Given the description of an element on the screen output the (x, y) to click on. 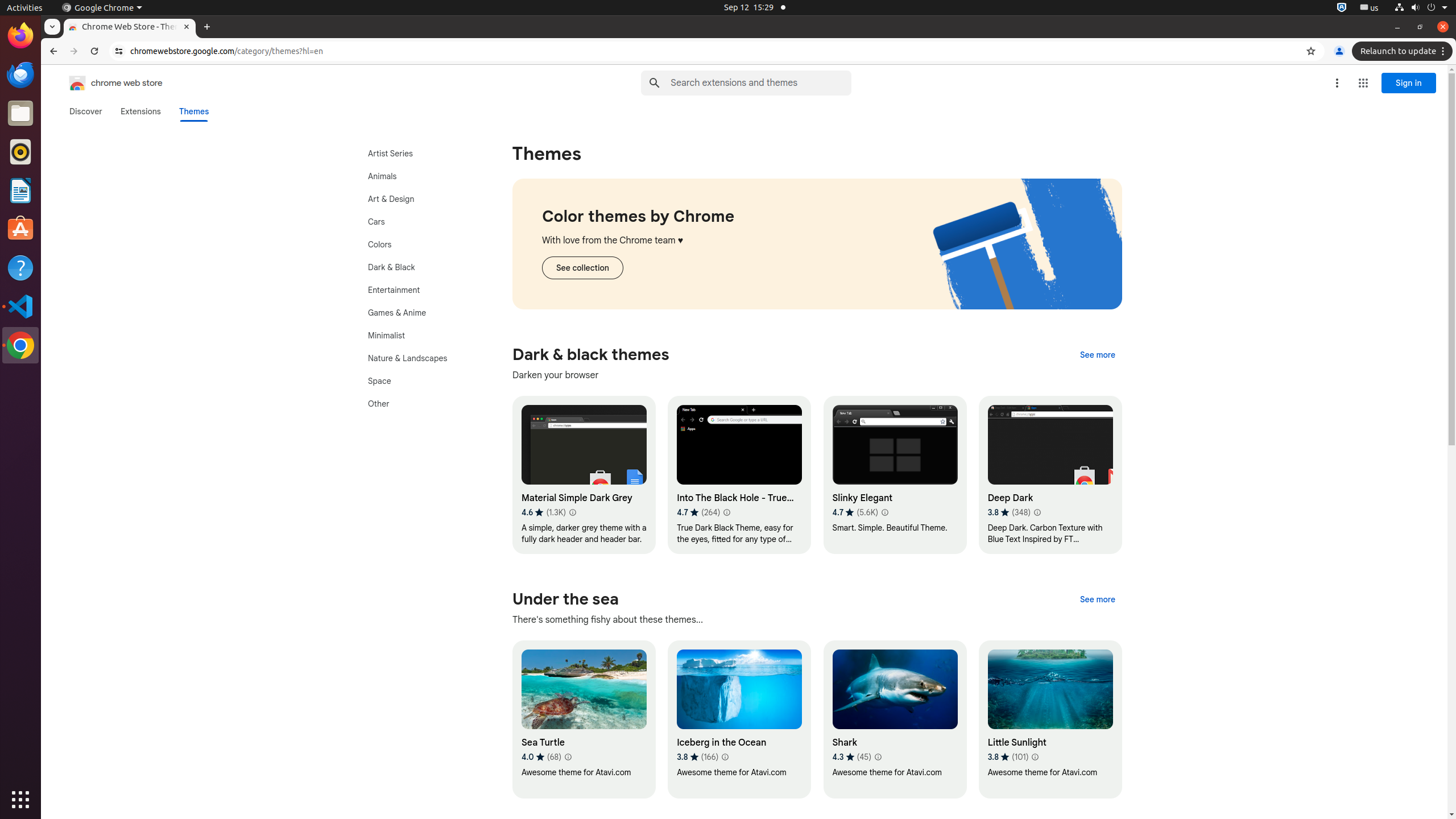
Google Chrome Element type: push-button (20, 344)
:1.72/StatusNotifierItem Element type: menu (1341, 7)
Visual Studio Code Element type: push-button (20, 306)
Chrome Web Store logo chrome web store Element type: link (103, 82)
Space Element type: menu-item (419, 380)
